Given the description of an element on the screen output the (x, y) to click on. 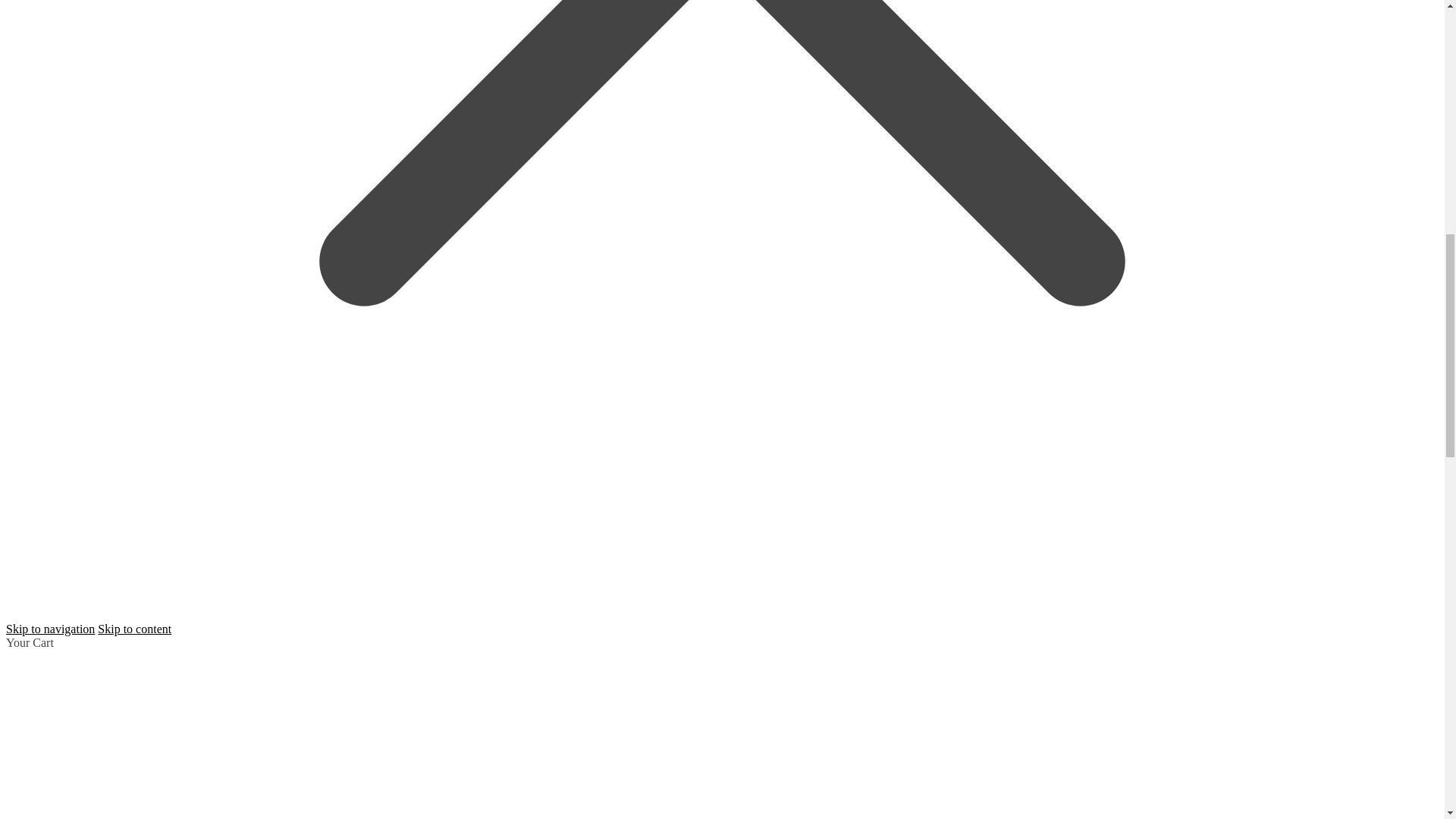
Skip to content (134, 628)
Skip to navigation (49, 628)
